Given the description of an element on the screen output the (x, y) to click on. 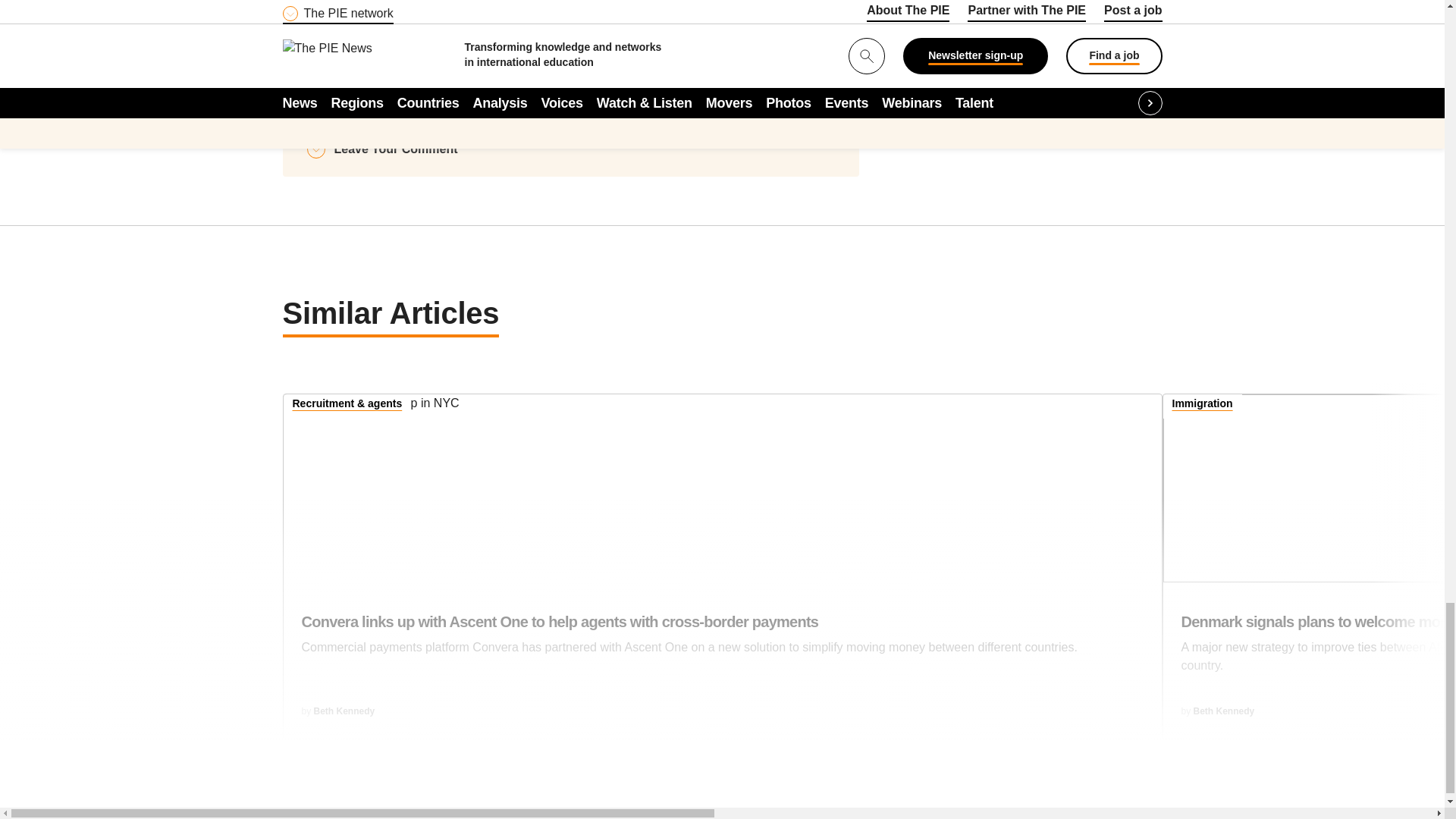
Denmark signals plans to welcome more students from Africa (1309, 487)
Denmark signals plans to welcome more students from Africa (1318, 651)
View all Immigration articles (1202, 405)
